Given the description of an element on the screen output the (x, y) to click on. 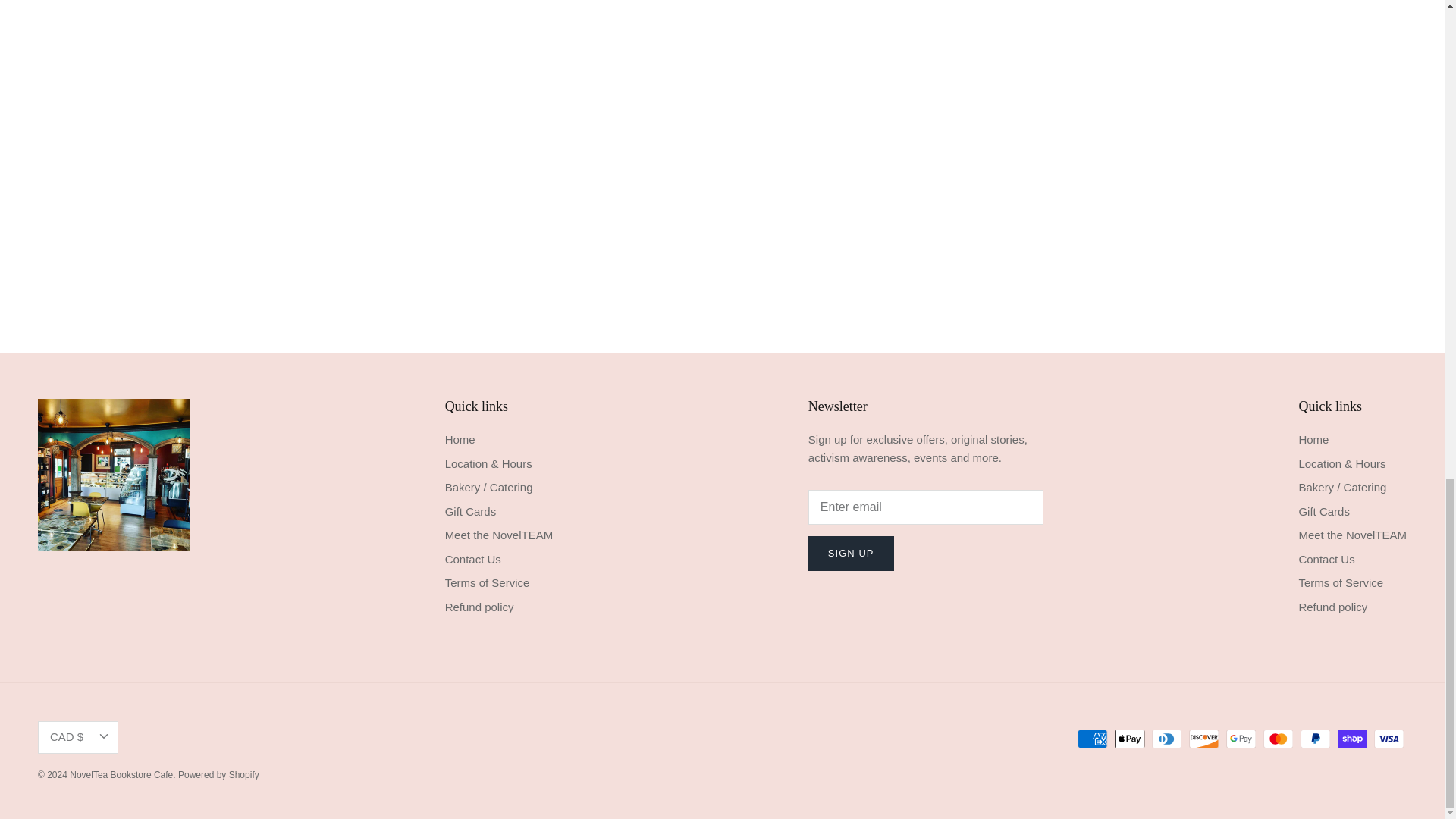
PayPal (1315, 738)
Visa (1388, 738)
Diners Club (1166, 738)
American Express (1092, 738)
Discover (1203, 738)
Down (103, 735)
Mastercard (1277, 738)
Shop Pay (1352, 738)
Apple Pay (1129, 738)
Google Pay (1240, 738)
